Given the description of an element on the screen output the (x, y) to click on. 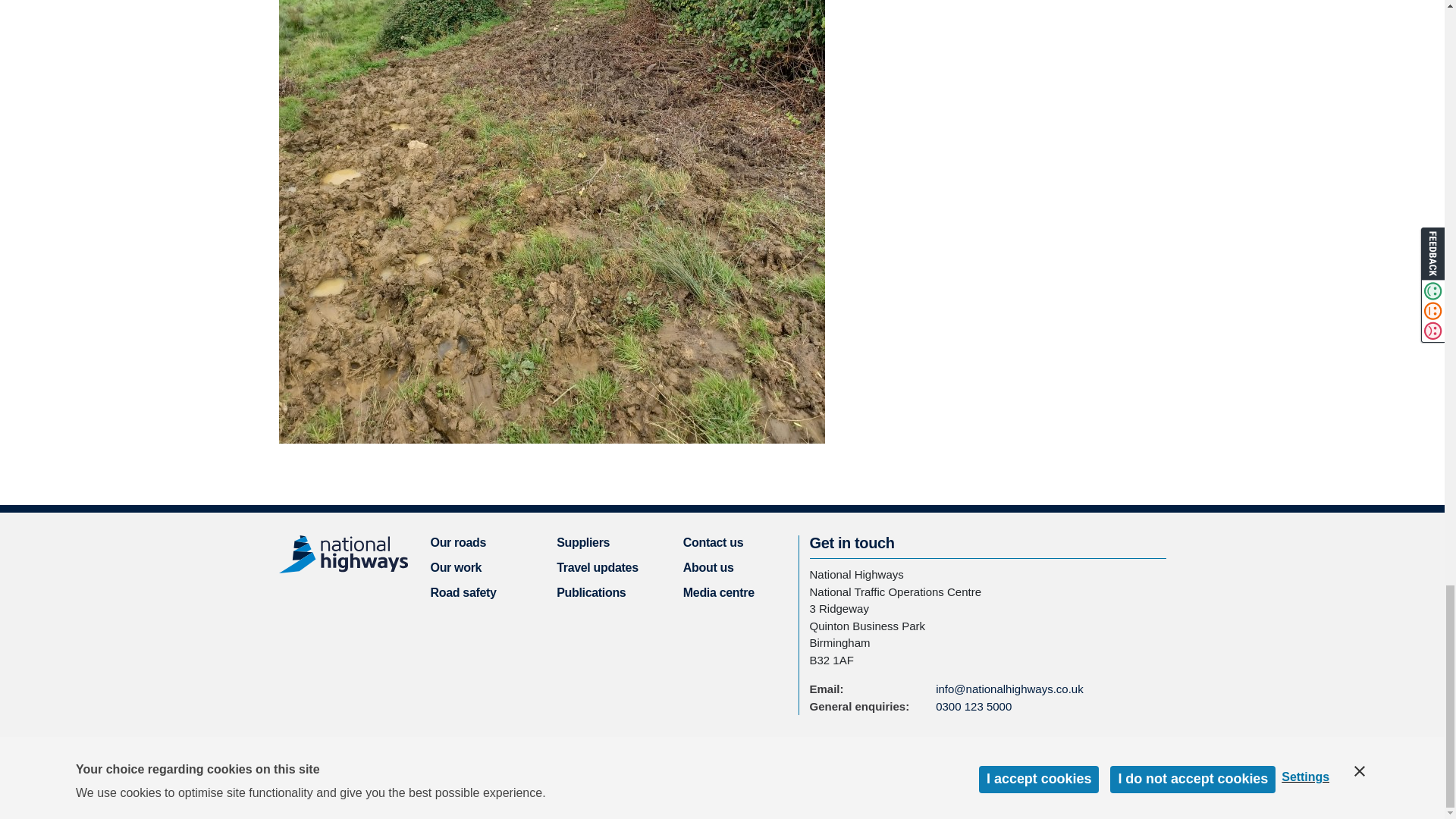
Our work (455, 567)
Publications (591, 592)
Contact us (712, 542)
Travel updates (597, 567)
Suppliers (583, 542)
Our roads (458, 542)
Road safety (463, 592)
